Given the description of an element on the screen output the (x, y) to click on. 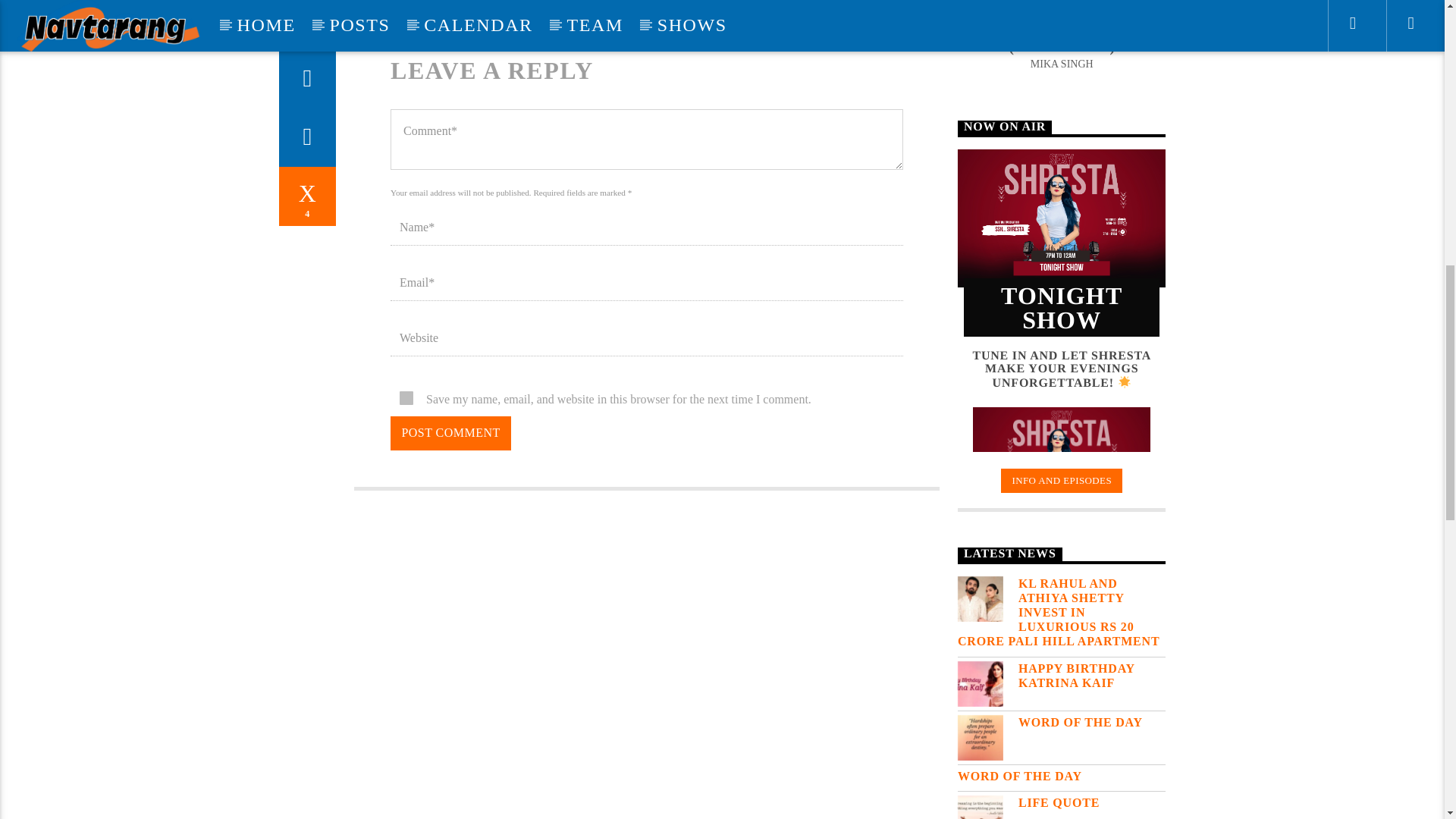
INFO AND EPISODES (1061, 480)
LIFE QUOTE (1062, 802)
WORD OF THE DAY (1062, 721)
4 (307, 196)
Post Comment (450, 433)
Post Comment (450, 433)
WORD OF THE DAY (1062, 775)
HAPPY BIRTHDAY KATRINA KAIF (1062, 675)
